Given the description of an element on the screen output the (x, y) to click on. 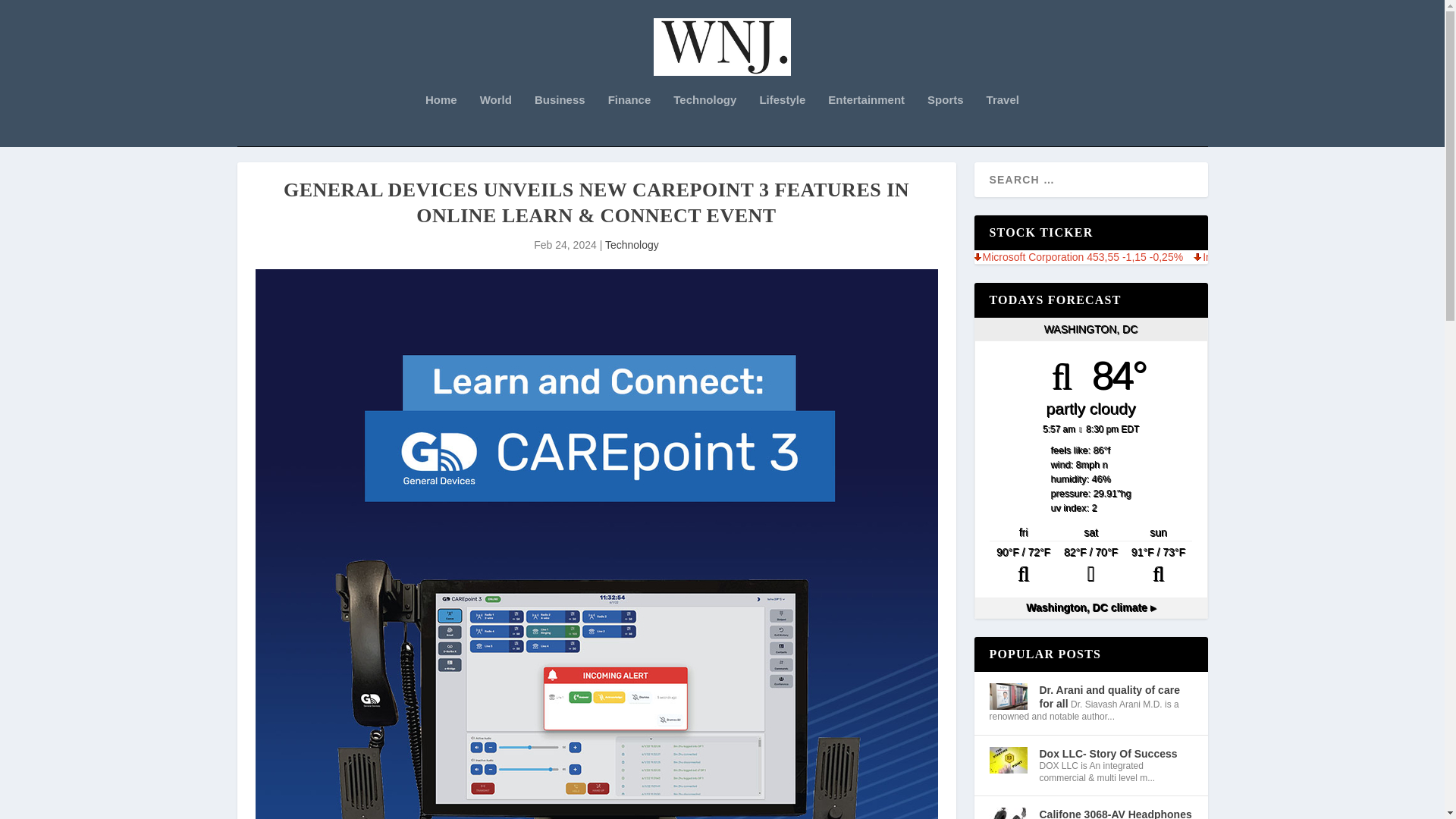
Showers (1090, 566)
Partly Cloudy (1023, 566)
Technology (704, 120)
Partly Cloudy (1158, 566)
Technology (632, 244)
Business (559, 120)
Finance (629, 120)
Travel (1003, 120)
Home (441, 120)
Lifestyle (781, 120)
Sports (945, 120)
Entertainment (866, 120)
World (496, 120)
